Given the description of an element on the screen output the (x, y) to click on. 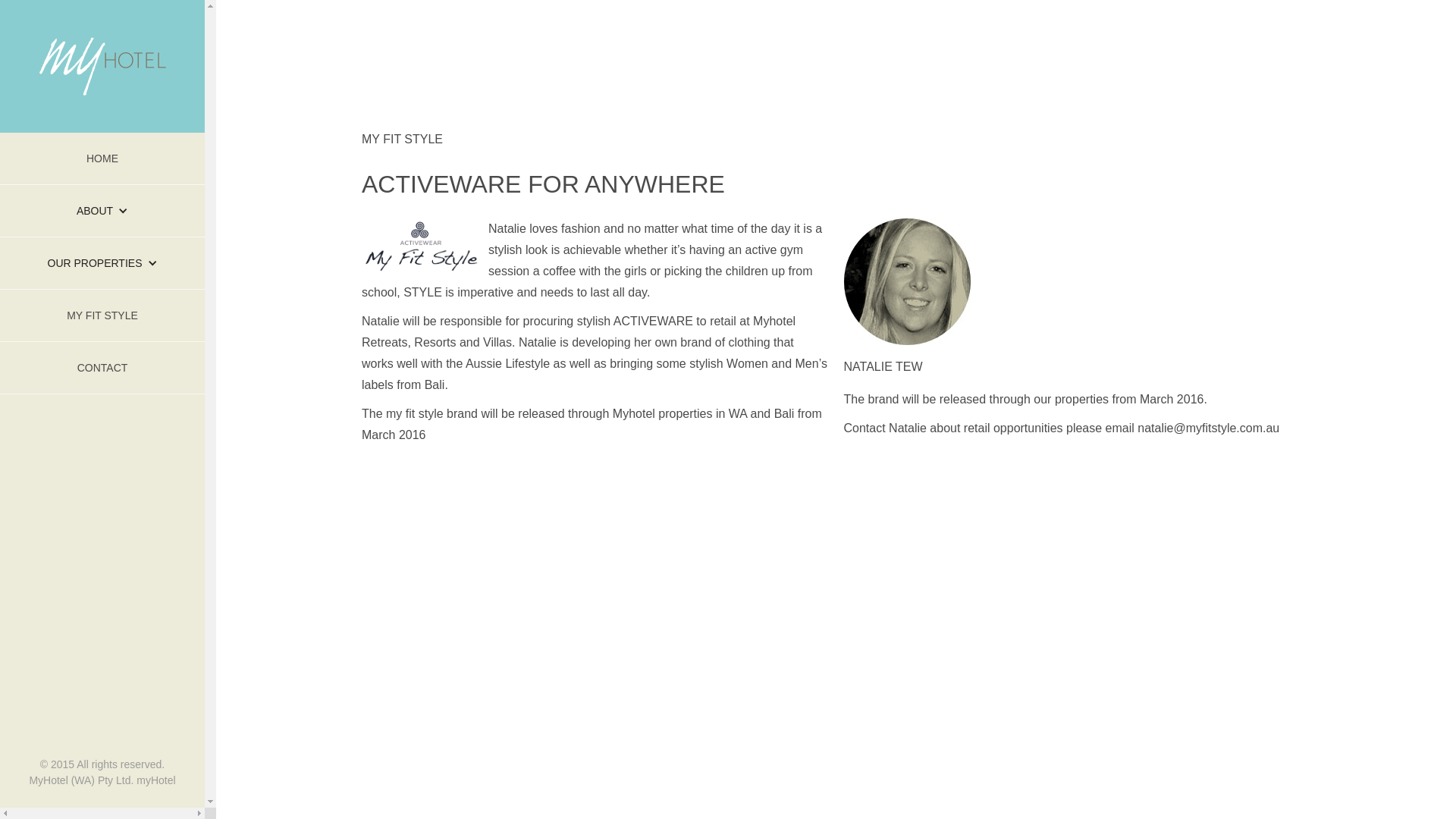
MY FIT STYLE Element type: text (102, 315)
CONTACT Element type: text (102, 368)
HOME Element type: text (102, 158)
